Given the description of an element on the screen output the (x, y) to click on. 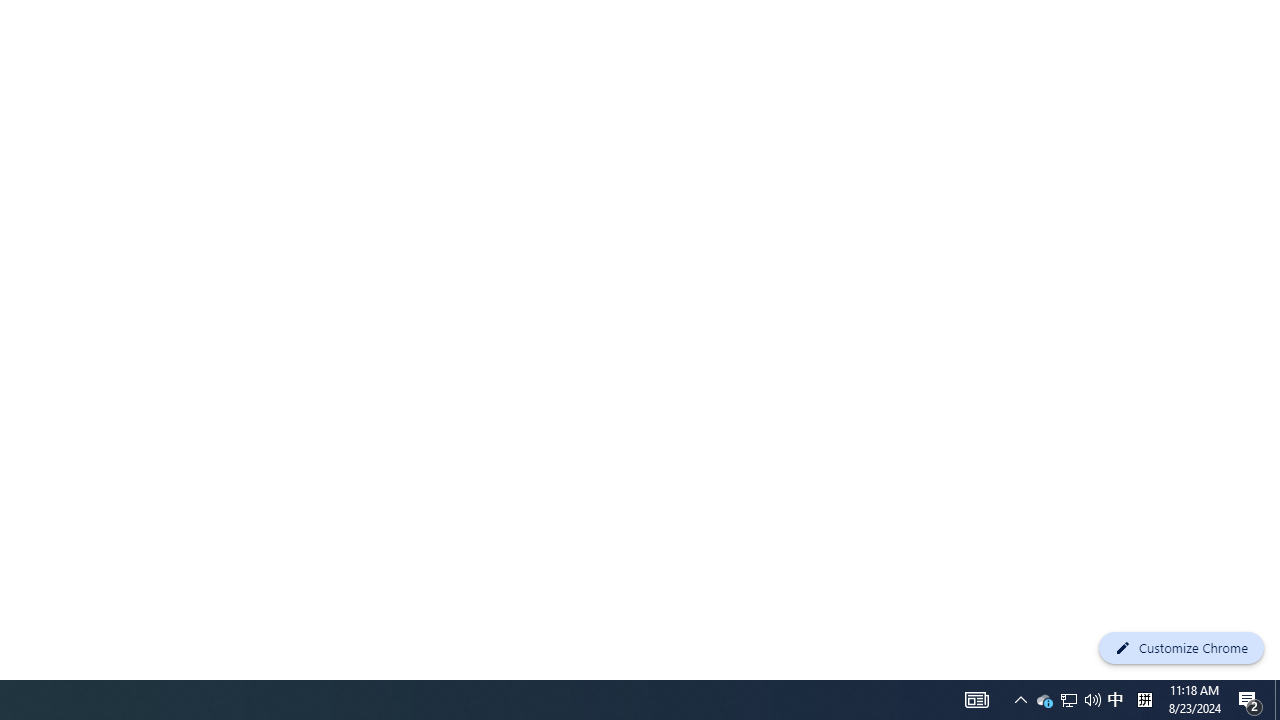
Customize Chrome (1181, 647)
